Given the description of an element on the screen output the (x, y) to click on. 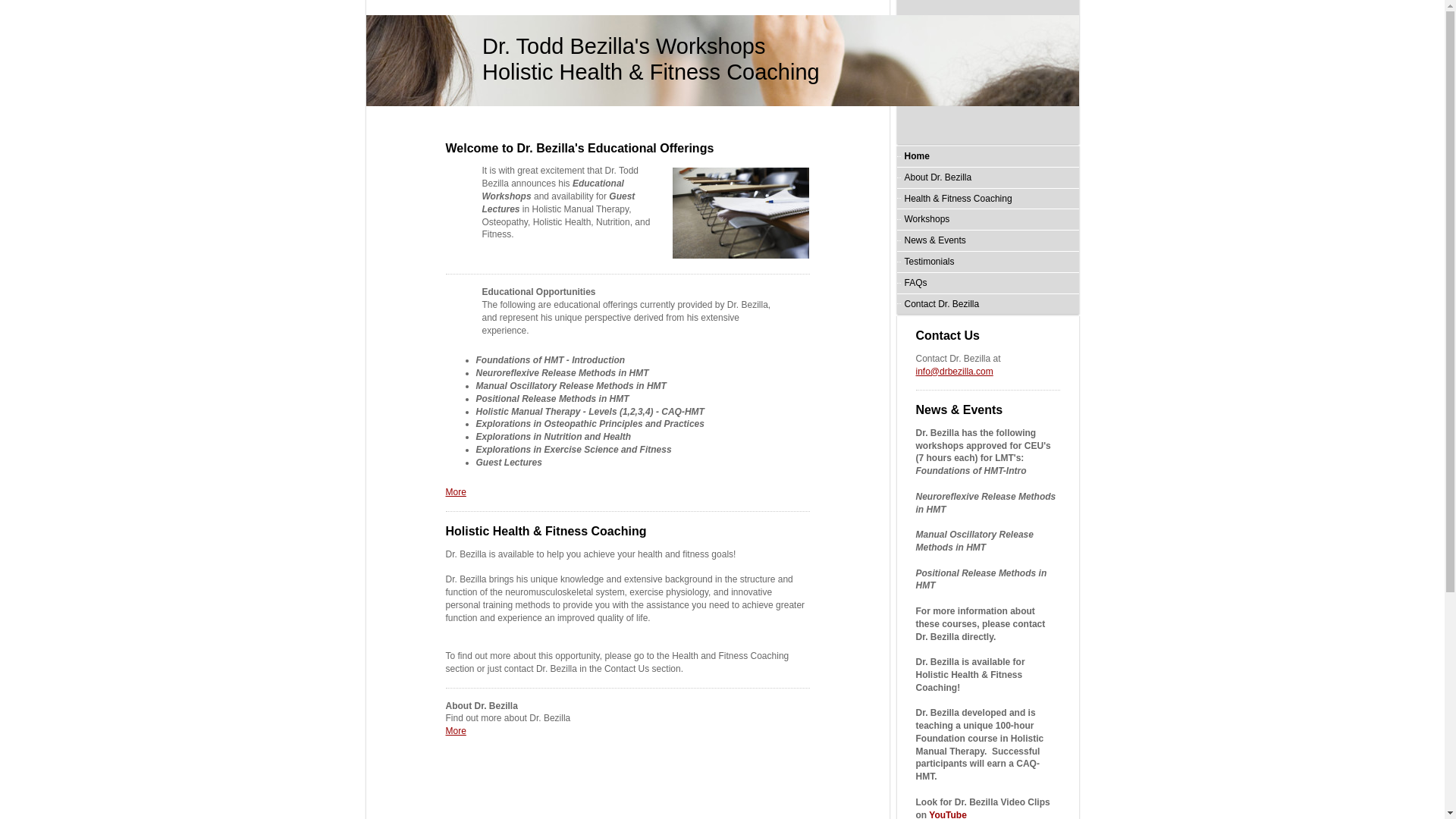
More (455, 730)
More (455, 491)
Workshops (987, 219)
Testimonials (987, 261)
YouTube (947, 814)
FAQs (987, 282)
Home (987, 156)
About Dr. Bezilla (987, 177)
Contact Dr. Bezilla (987, 304)
